Given the description of an element on the screen output the (x, y) to click on. 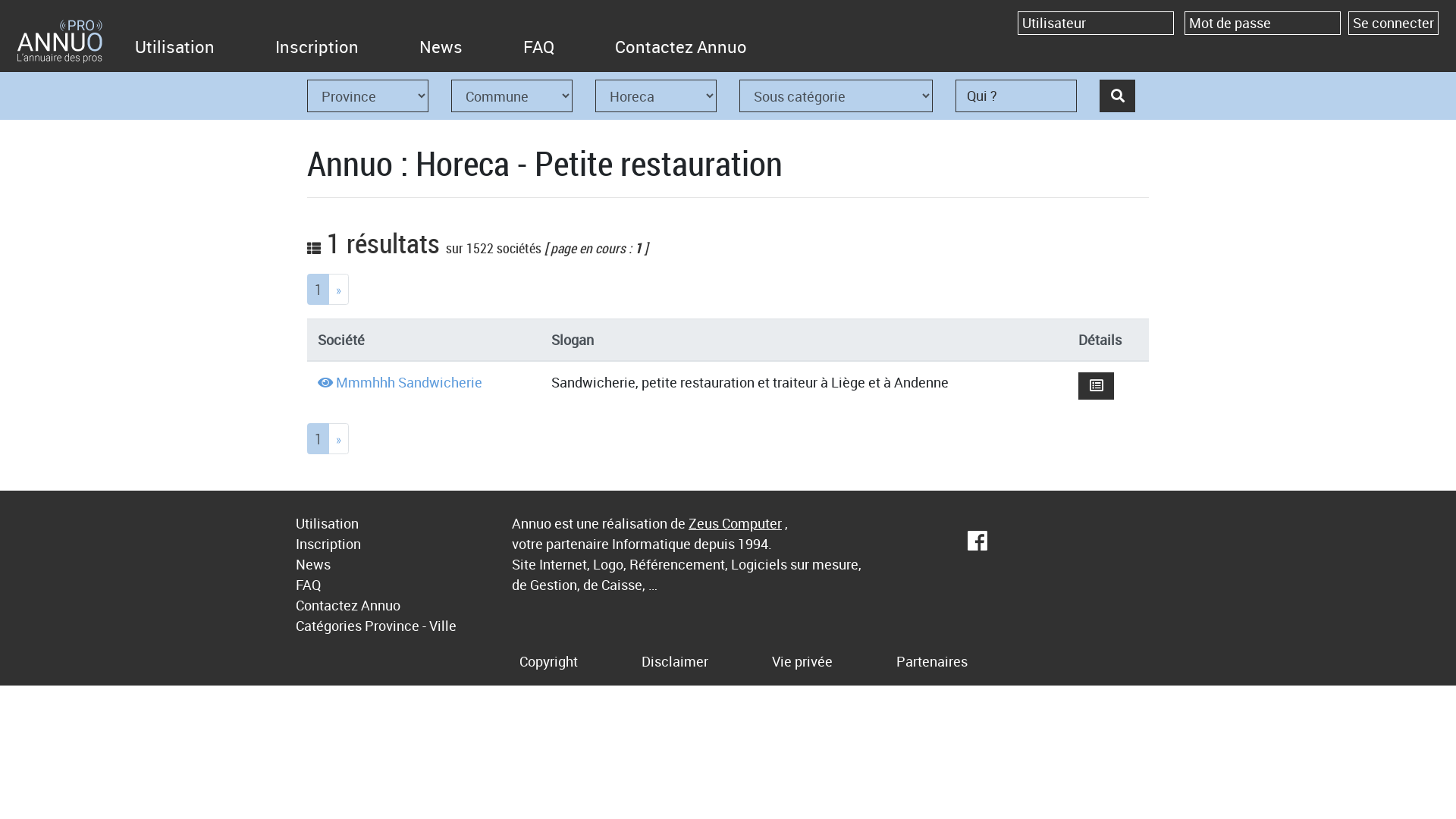
FAQ Element type: text (307, 584)
Zeus Computer Element type: text (734, 523)
Disclaimer Element type: text (674, 661)
Partenaires Element type: text (931, 661)
News Element type: text (312, 564)
1
(current) Element type: text (318, 288)
Contactez Annuo Element type: text (680, 47)
Se connecter Element type: text (1393, 22)
Province - Ville Element type: text (410, 625)
Mmmhhh Sandwicherie Element type: text (408, 382)
FAQ Element type: text (538, 47)
News Element type: text (440, 47)
Contactez Annuo Element type: text (347, 605)
Utilisation Element type: text (174, 47)
Copyright Element type: text (547, 661)
Inscription Element type: text (316, 47)
Inscription Element type: text (327, 543)
1
(current) Element type: text (318, 438)
Utilisation Element type: text (326, 523)
